Given the description of an element on the screen output the (x, y) to click on. 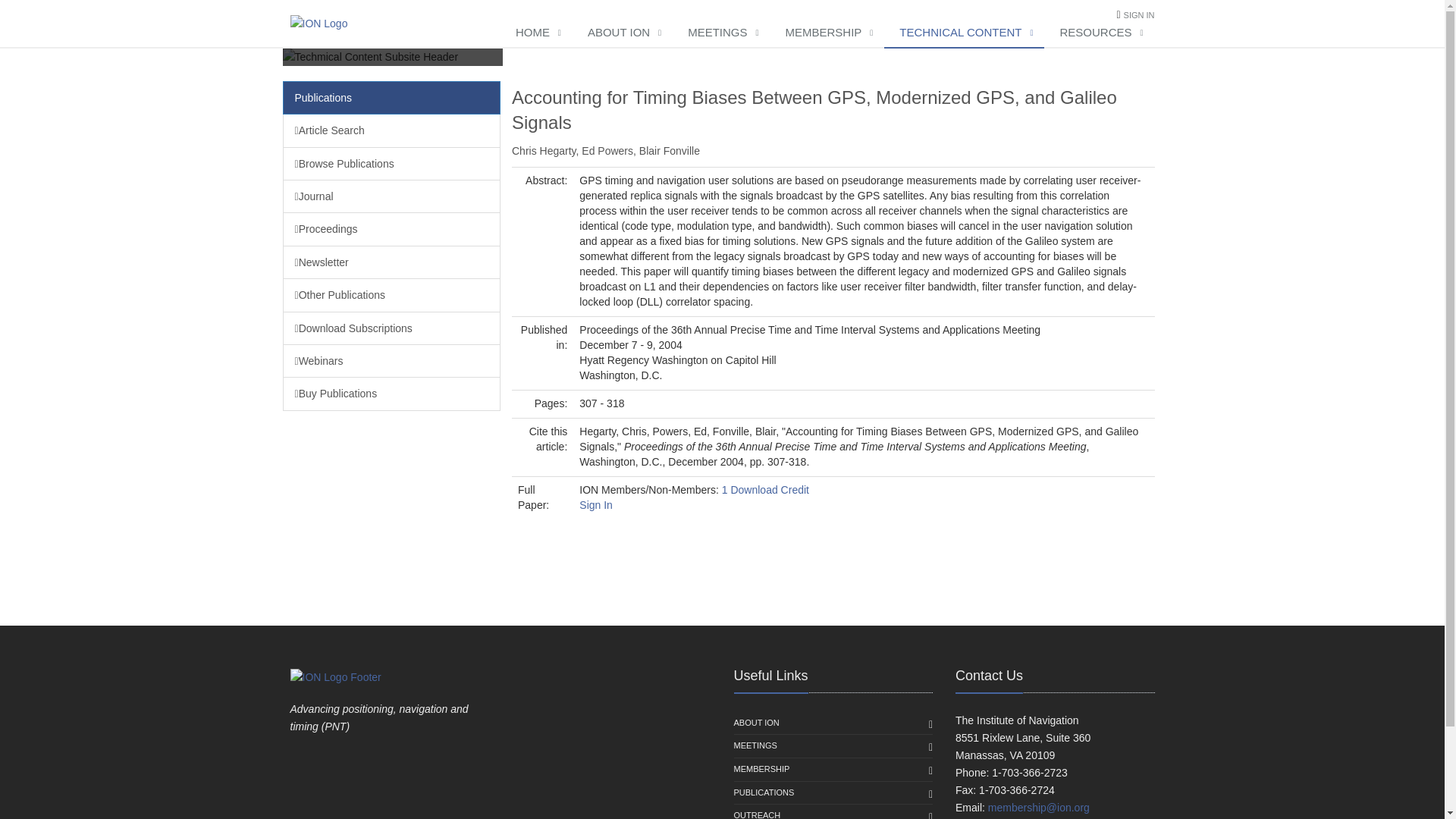
ABOUT ION (622, 33)
MEMBERSHIP (826, 33)
ION Logo Footer (334, 677)
HOME (536, 33)
RESOURCES (1098, 33)
MEETINGS (721, 33)
TECHNICAL CONTENT (963, 33)
SIGN IN (1139, 14)
